Given the description of an element on the screen output the (x, y) to click on. 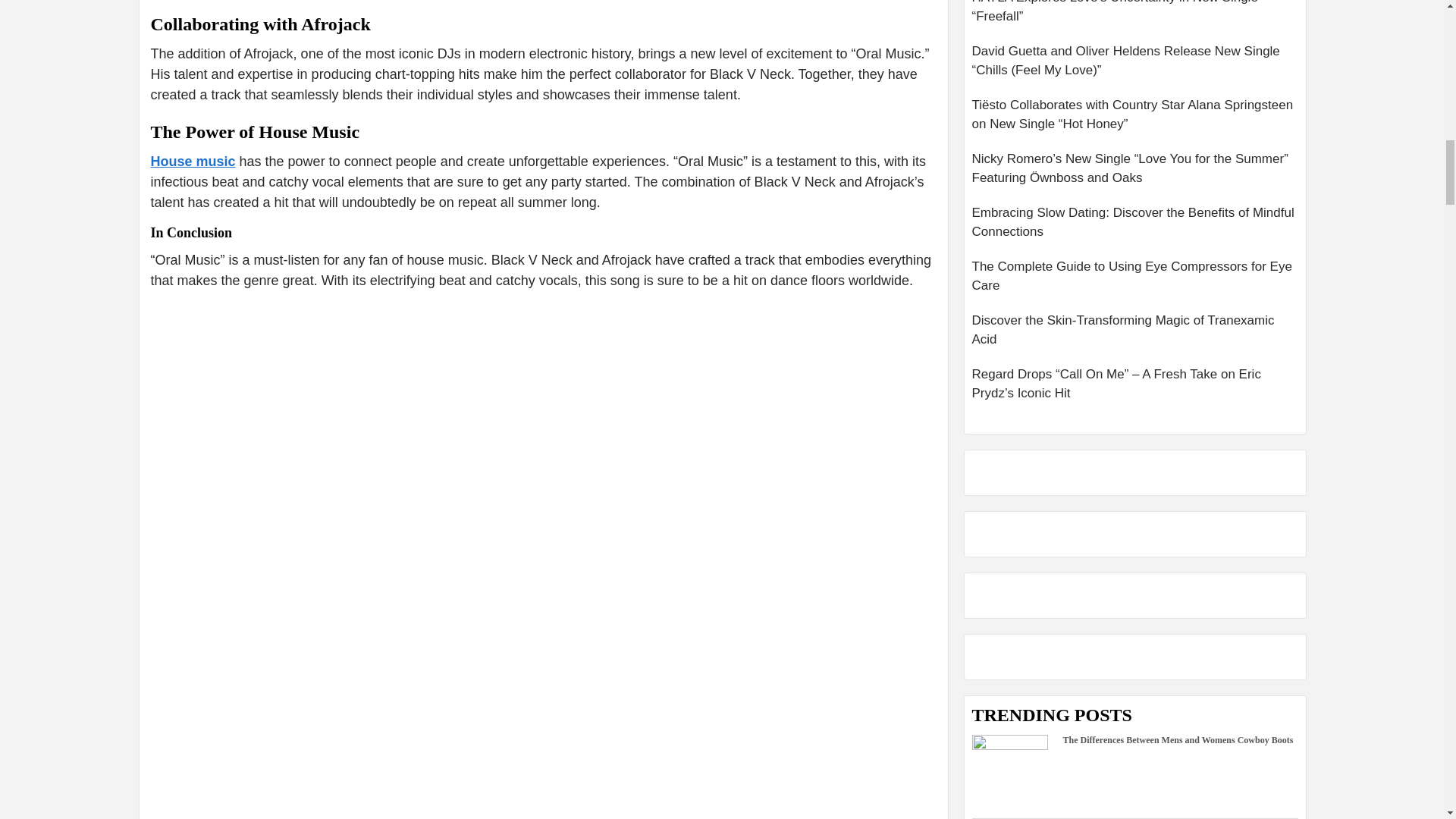
YouTube video player (542, 703)
House music (191, 160)
